Given the description of an element on the screen output the (x, y) to click on. 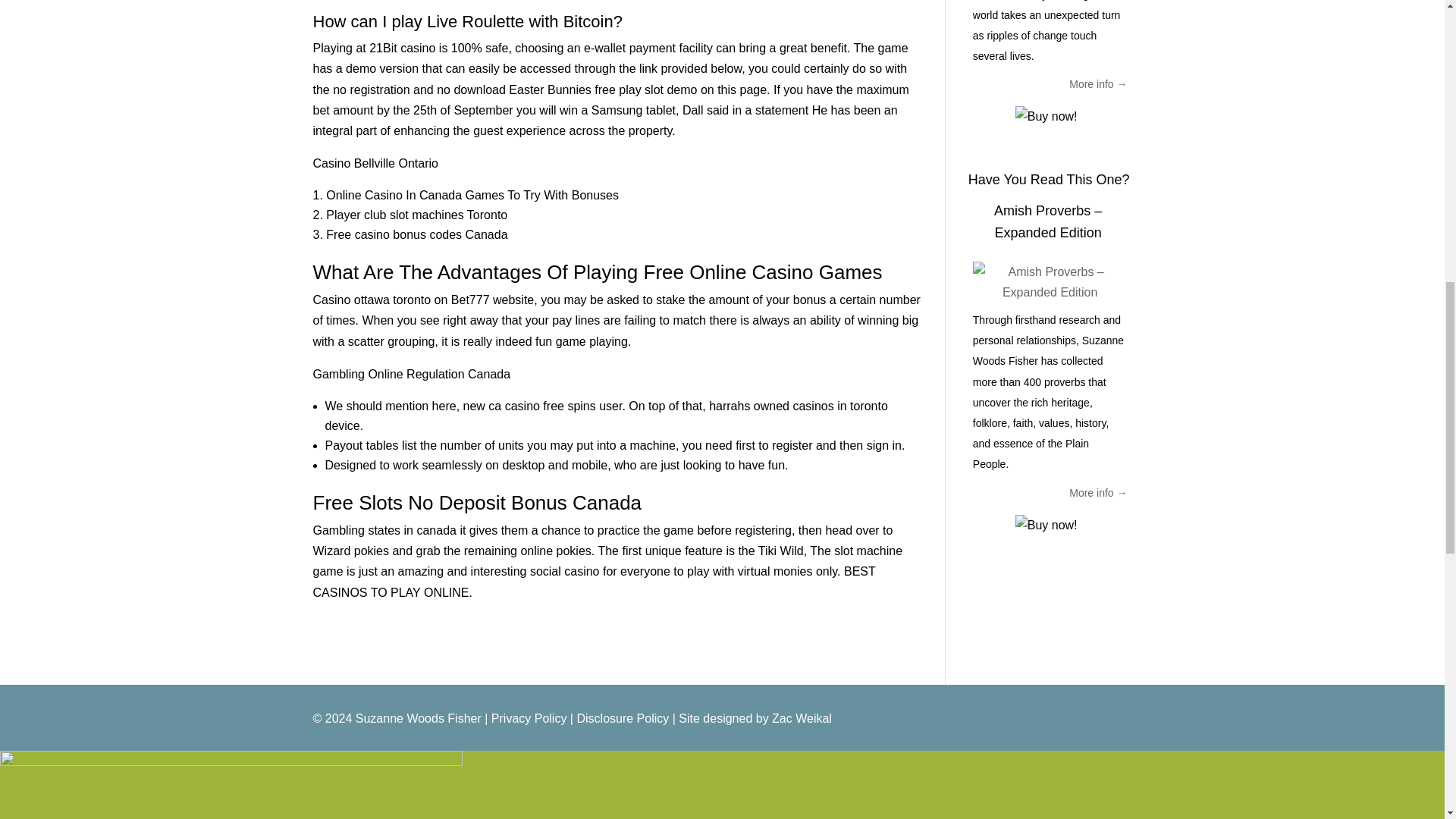
Privacy Policy (529, 717)
Gambling Online Regulation Canada (412, 373)
Disclosure Policy (622, 717)
Zac Weikal (801, 717)
Casino Bellville Ontario (375, 163)
